Given the description of an element on the screen output the (x, y) to click on. 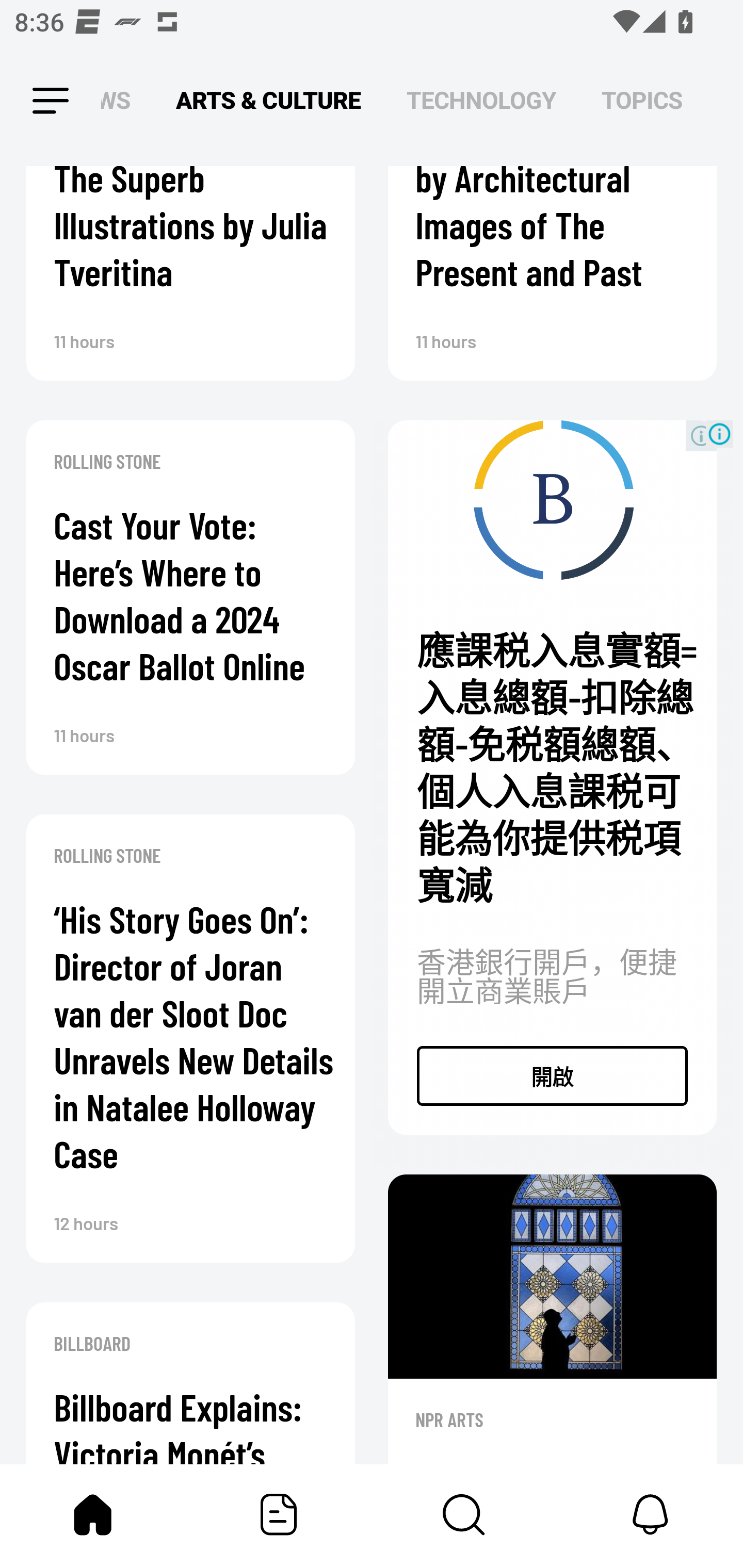
Leading Icon (32, 101)
NEWS (121, 100)
TECHNOLOGY (481, 100)
TOPICS (641, 100)
Ad Choices Icon (719, 434)
Featured (278, 1514)
Content Store (464, 1514)
Notifications (650, 1514)
